Given the description of an element on the screen output the (x, y) to click on. 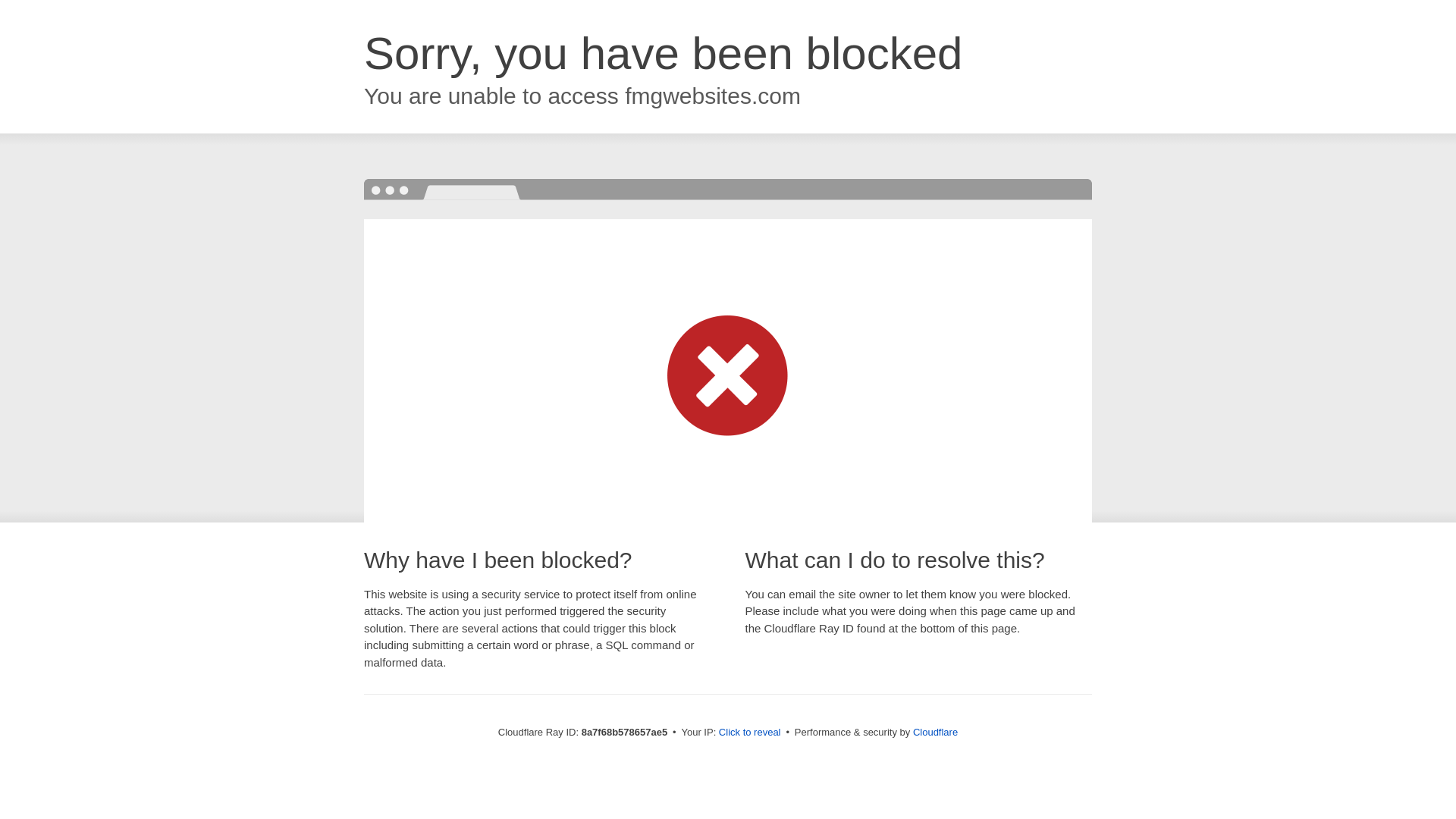
Cloudflare (935, 731)
Click to reveal (749, 732)
